Given the description of an element on the screen output the (x, y) to click on. 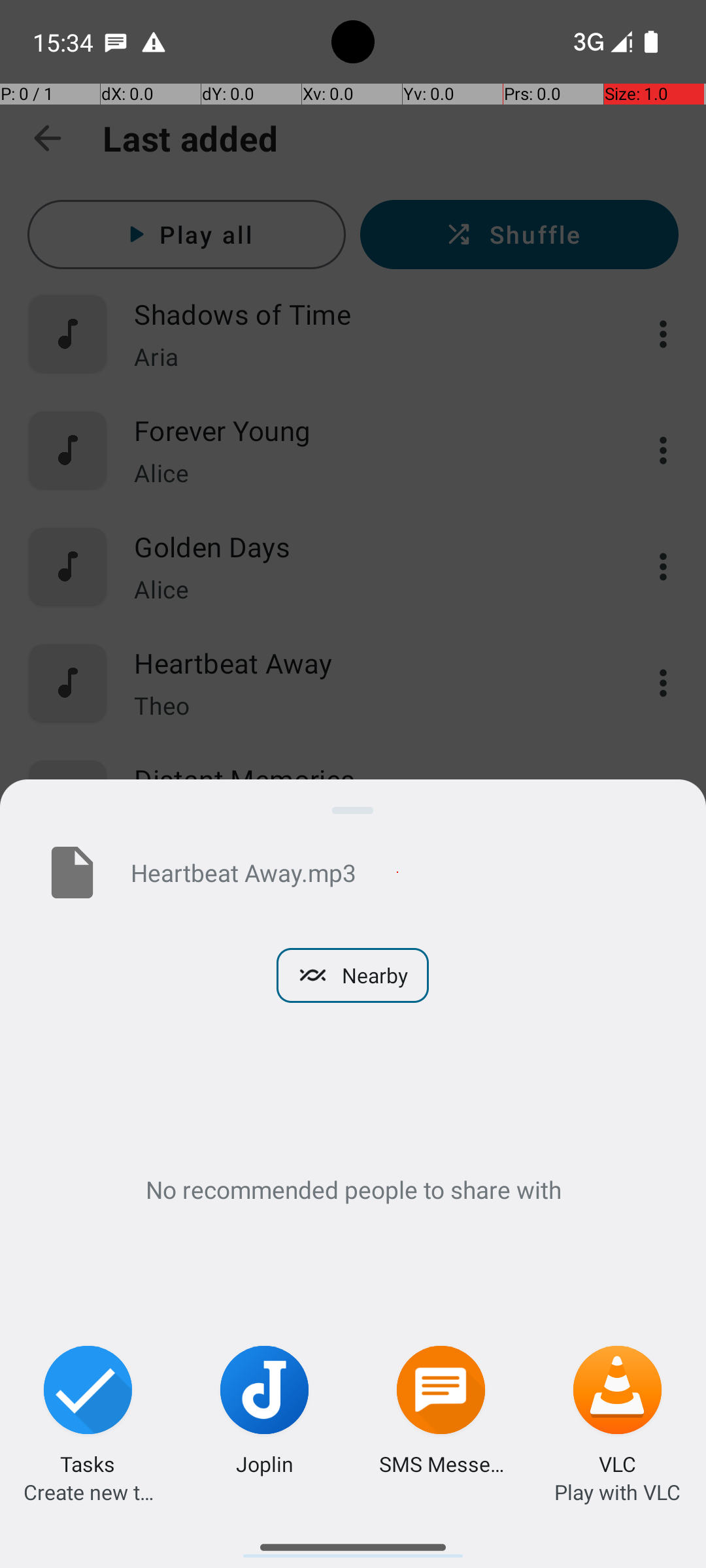
Apps list Element type: android.widget.ImageView (353, 1541)
Heartbeat Away.mp3 Element type: android.widget.TextView (397, 872)
Nearby Element type: android.widget.Button (352, 975)
No recommended people to share with Element type: android.widget.TextView (353, 1189)
Create new task Element type: android.widget.TextView (87, 1491)
Joplin Element type: android.widget.TextView (264, 1463)
SMS Messenger Element type: android.widget.TextView (440, 1463)
Play with VLC Element type: android.widget.TextView (617, 1491)
